Given the description of an element on the screen output the (x, y) to click on. 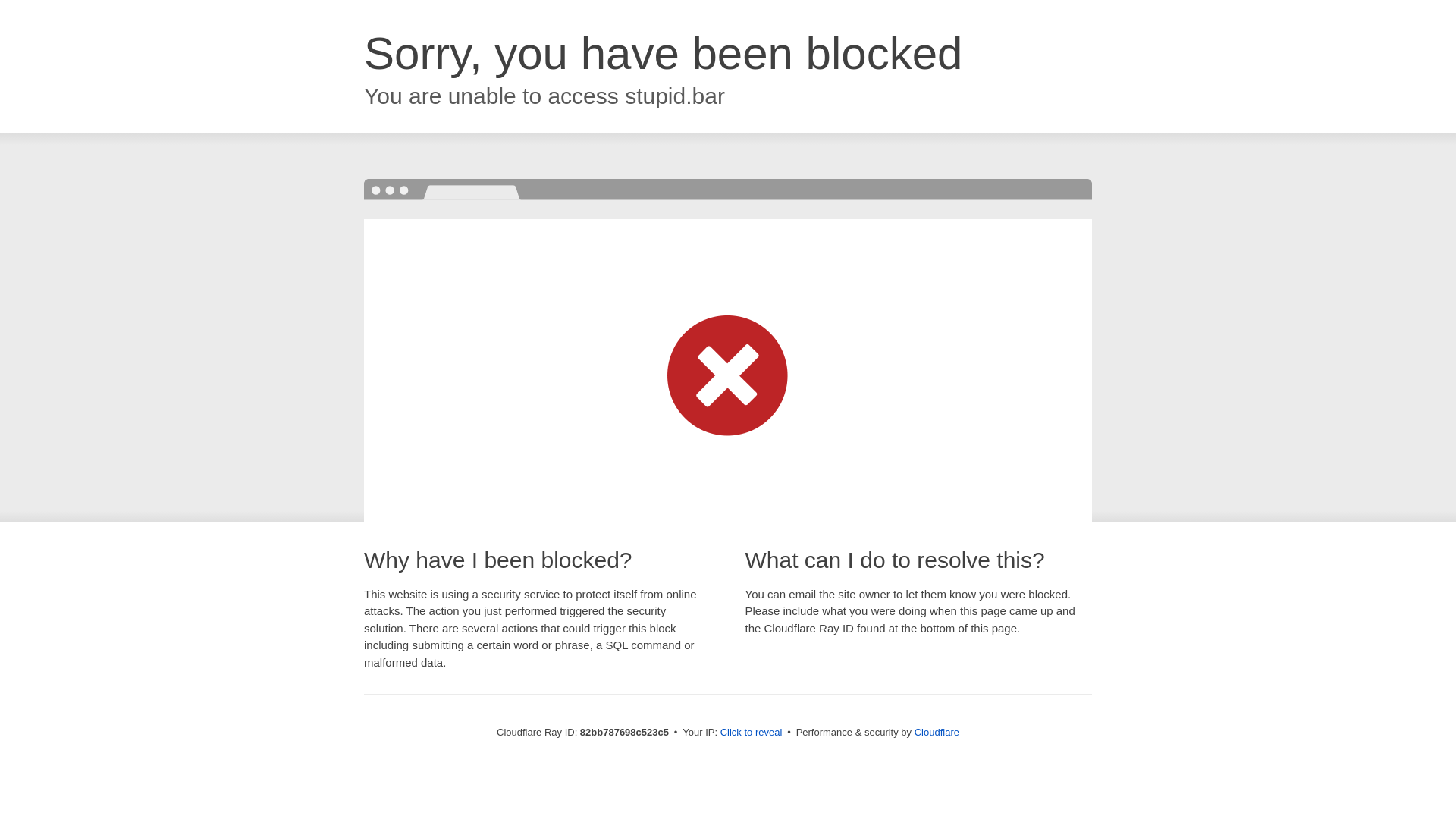
Click to reveal Element type: text (751, 732)
Cloudflare Element type: text (936, 731)
